Given the description of an element on the screen output the (x, y) to click on. 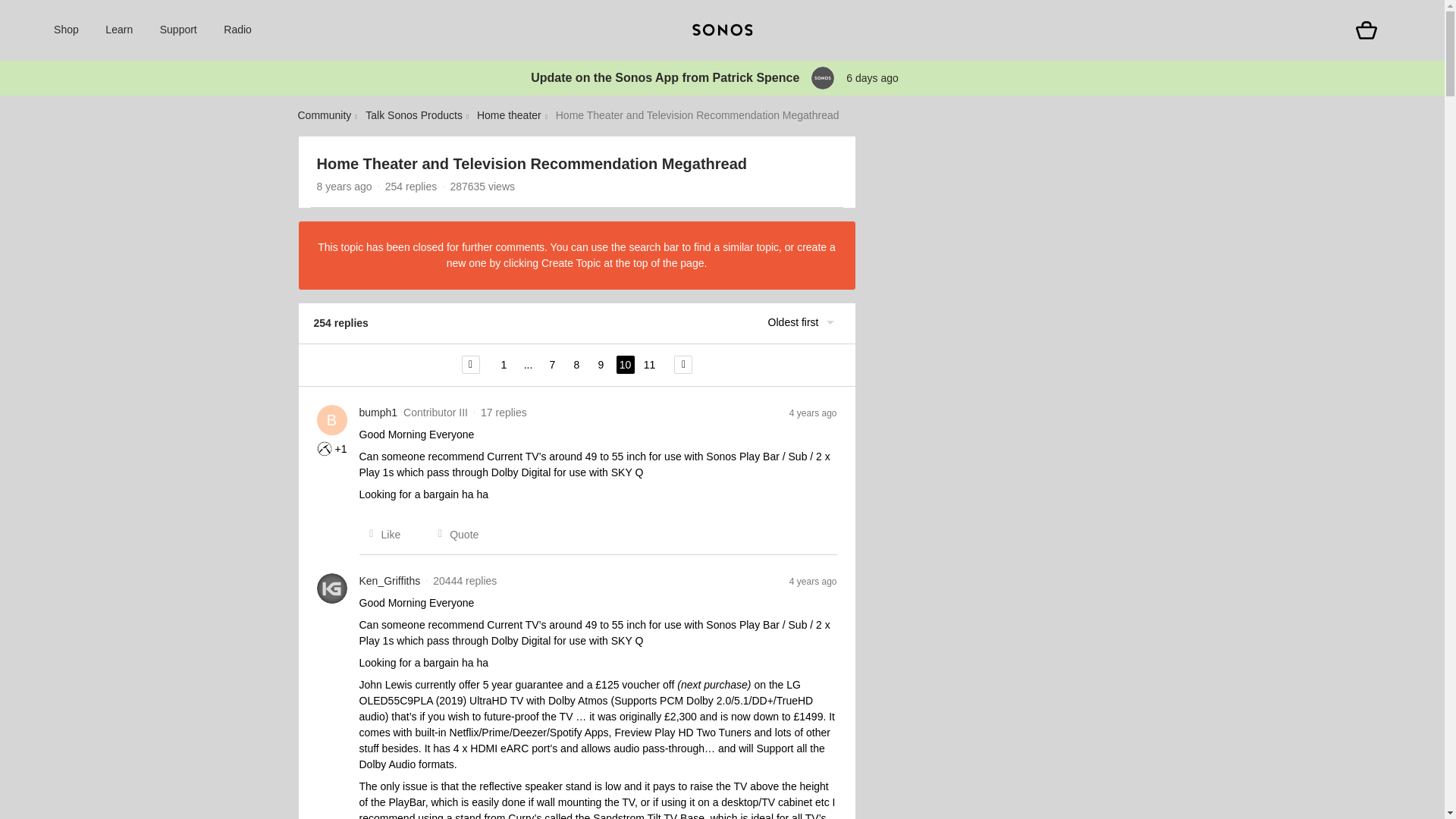
Carving it out I (324, 448)
Talk Sonos Products (414, 115)
Learn (118, 30)
bumph1 (378, 412)
Shop (65, 30)
254 replies (411, 186)
Community (323, 115)
Support (178, 30)
Home theater (509, 115)
Radio (237, 30)
